Given the description of an element on the screen output the (x, y) to click on. 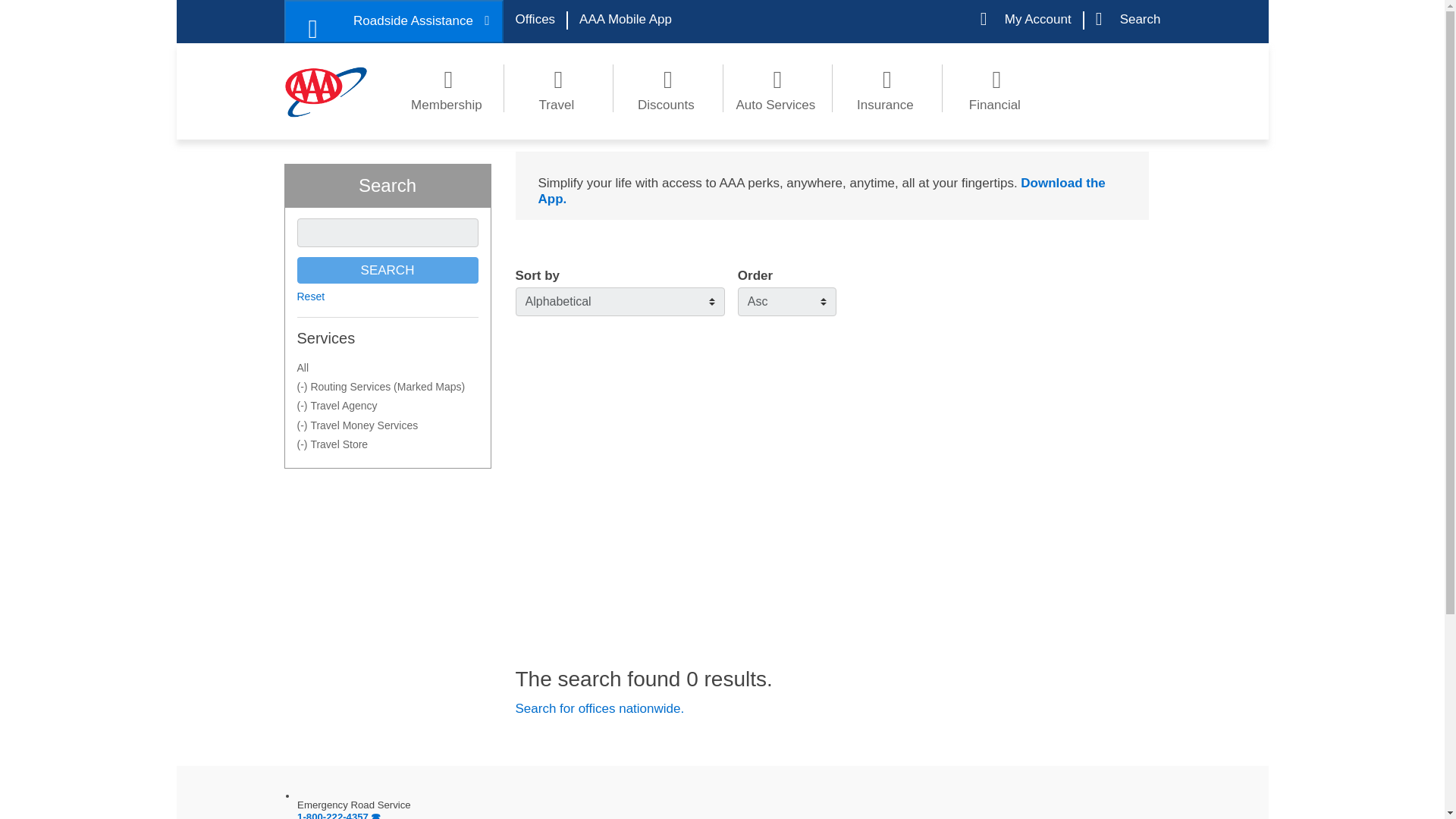
Membership (448, 88)
My Account (1025, 20)
AAA Mobile App (625, 20)
Offices (535, 20)
Travel (557, 88)
Roadside Assistance (392, 21)
